Given the description of an element on the screen output the (x, y) to click on. 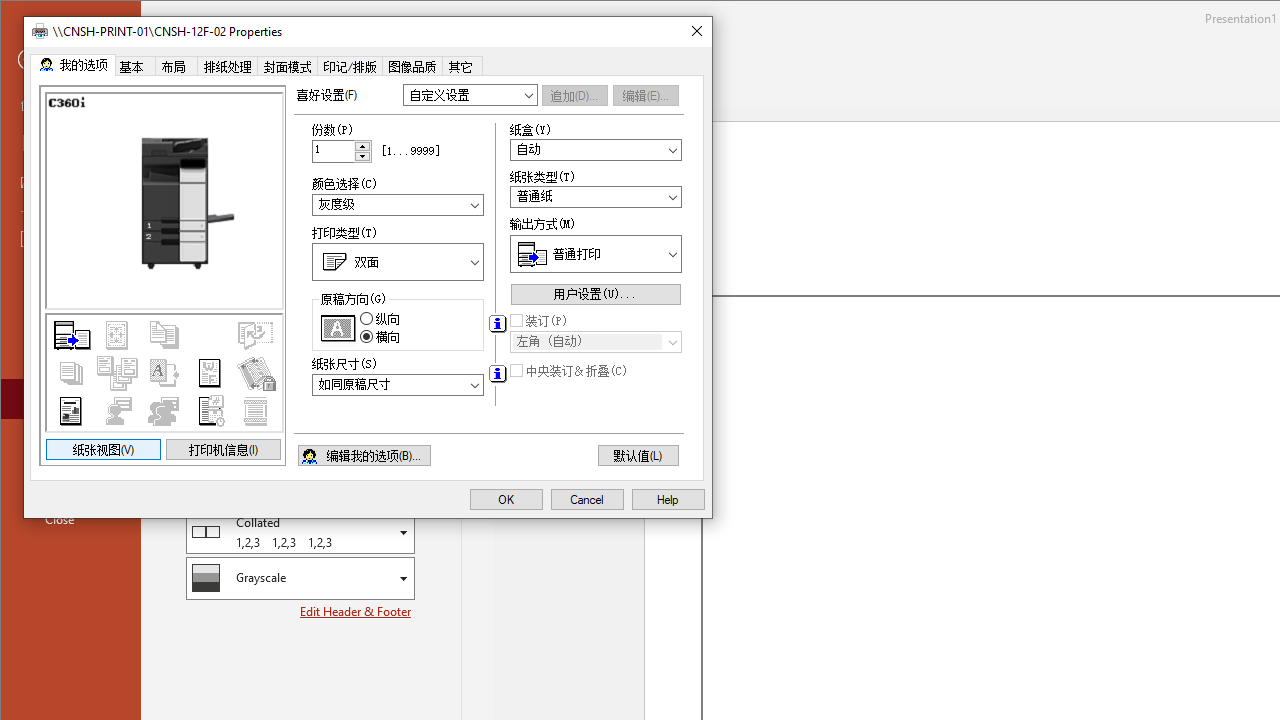
OK (506, 499)
Summary (164, 372)
AutomationID: 1833 (397, 204)
AutomationID: 1012 (363, 150)
AutomationID: 1047 (595, 341)
